Given the description of an element on the screen output the (x, y) to click on. 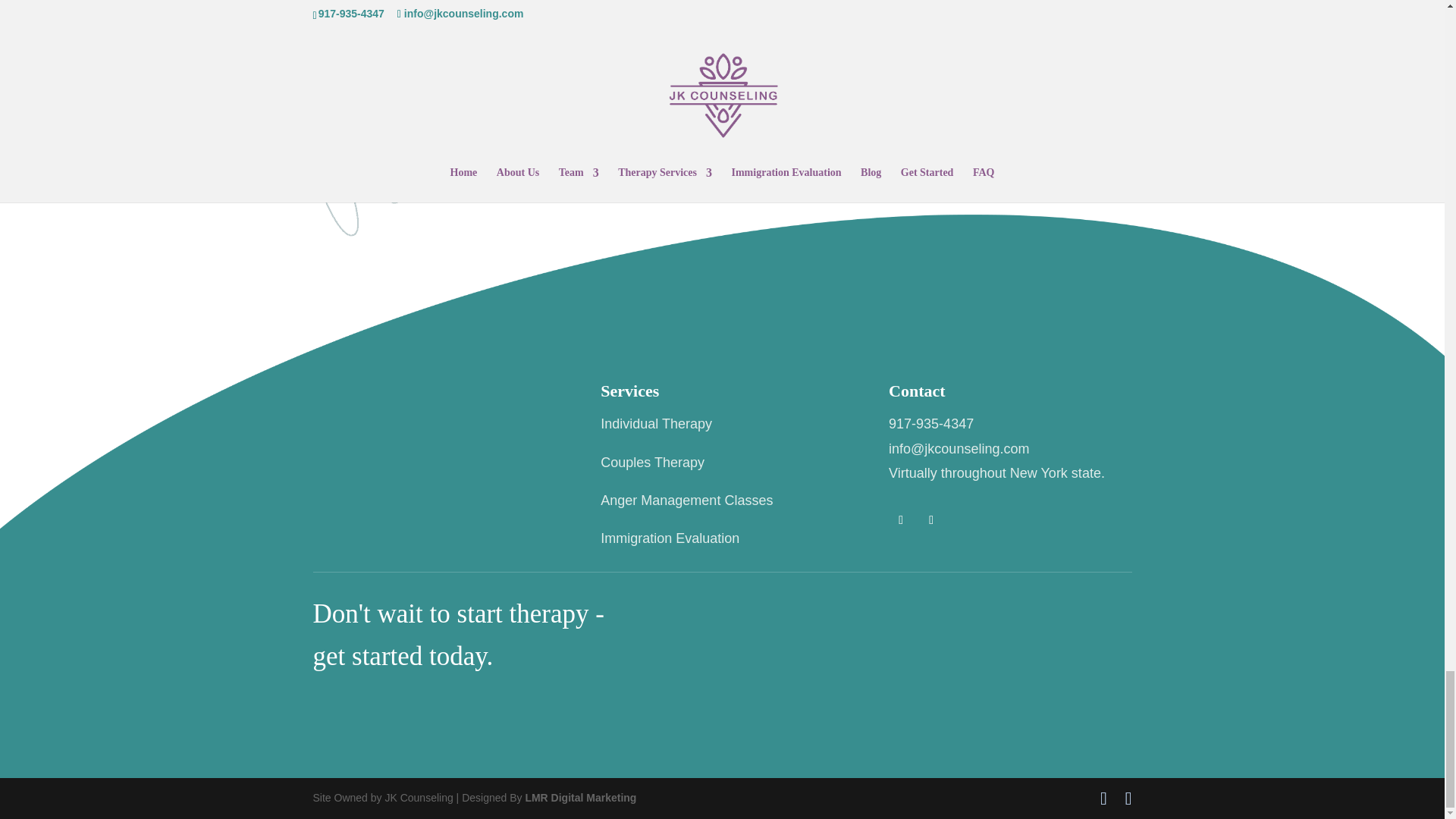
therapy-27 (382, 158)
Follow on Instagram (930, 519)
Follow on Facebook (900, 519)
Form 0 (894, 649)
